Given the description of an element on the screen output the (x, y) to click on. 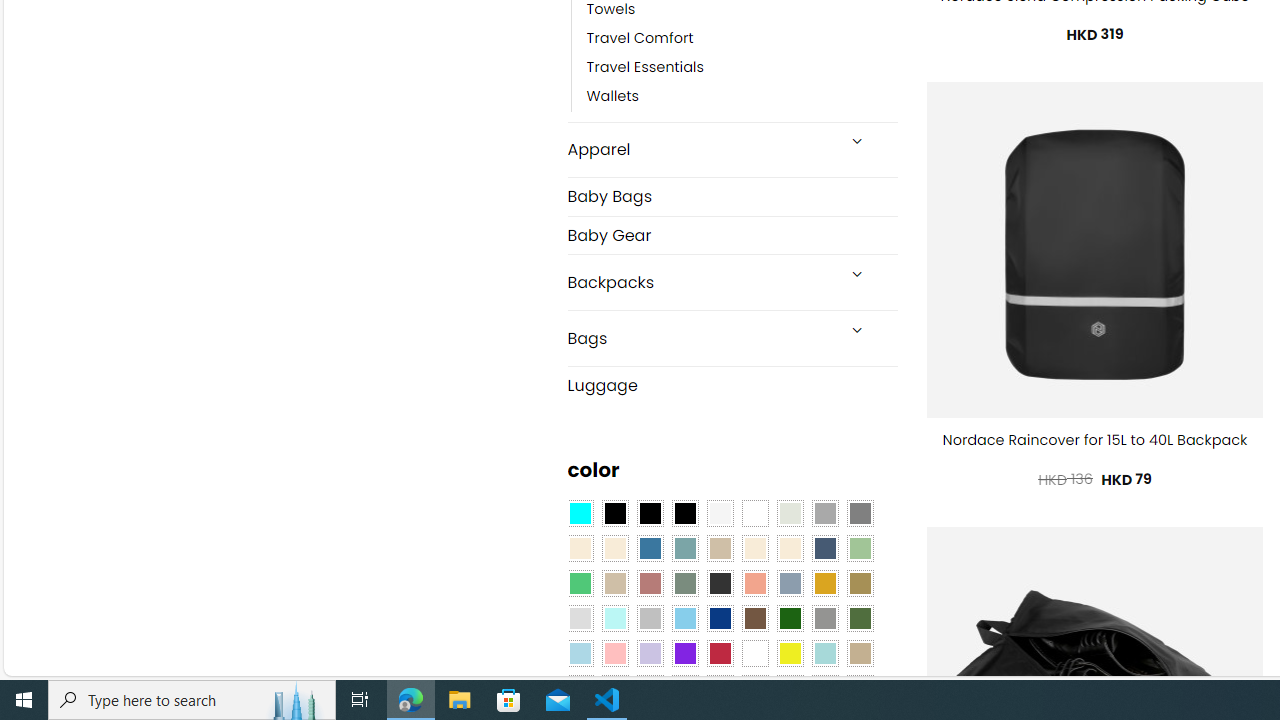
Baby Bags (732, 196)
Emerald Green (579, 583)
All Gray (859, 514)
Light Taupe (614, 583)
Silver (650, 619)
Ash Gray (789, 514)
Pearly White (719, 514)
Aqua (824, 653)
Yellow (789, 653)
Travel Comfort (742, 38)
Light Green (859, 548)
Gray (824, 619)
Brown (755, 619)
Luggage (732, 384)
